Given the description of an element on the screen output the (x, y) to click on. 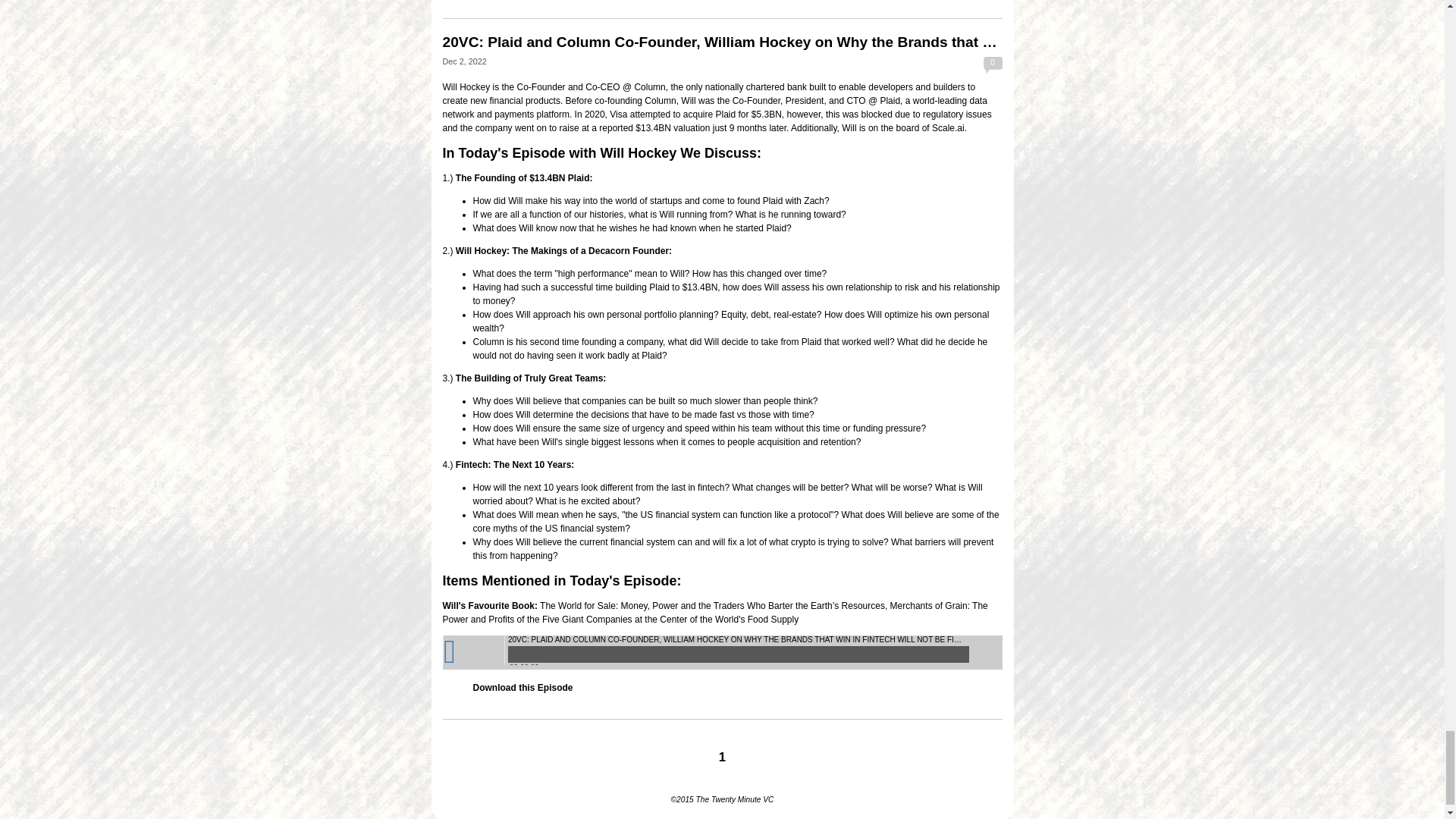
Libsyn Player (722, 652)
